Given the description of an element on the screen output the (x, y) to click on. 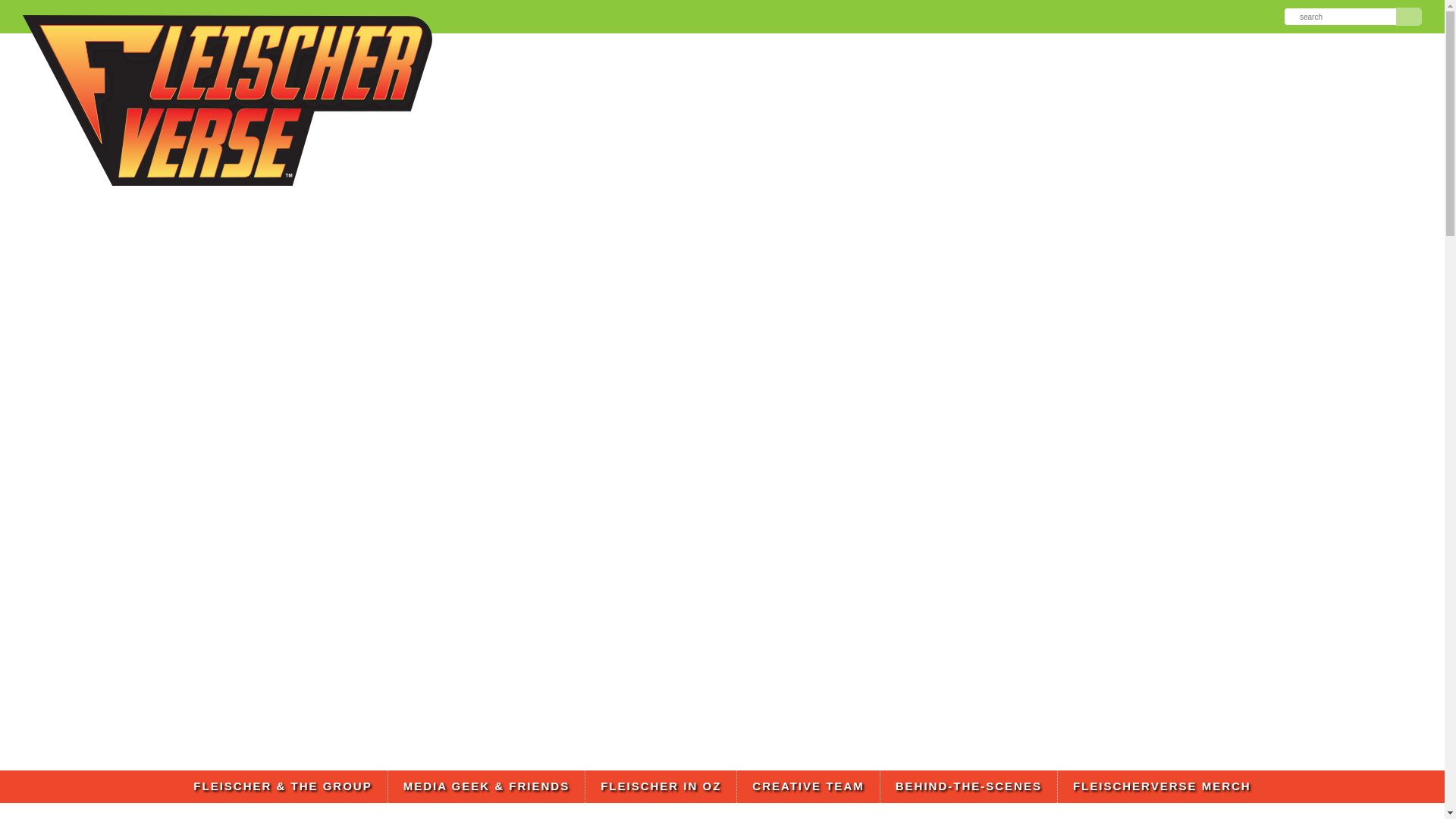
FLEISCHER IN OZ (660, 786)
CREATIVE TEAM (807, 786)
BEHIND-THE-SCENES (968, 786)
Search (1409, 16)
FLEISCHERVERSE MERCH (1162, 786)
